Given the description of an element on the screen output the (x, y) to click on. 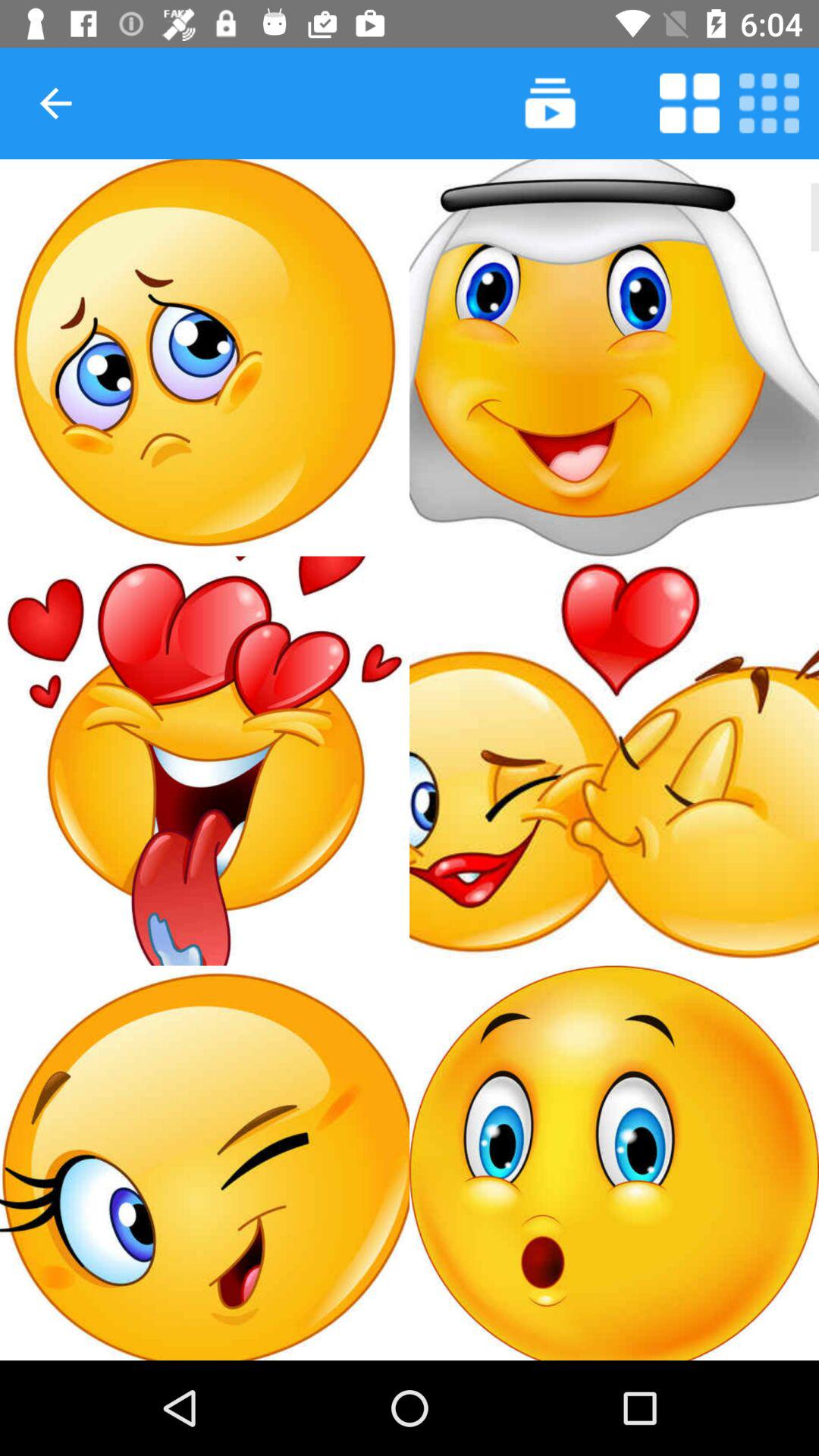
kissing emoji (614, 760)
